Given the description of an element on the screen output the (x, y) to click on. 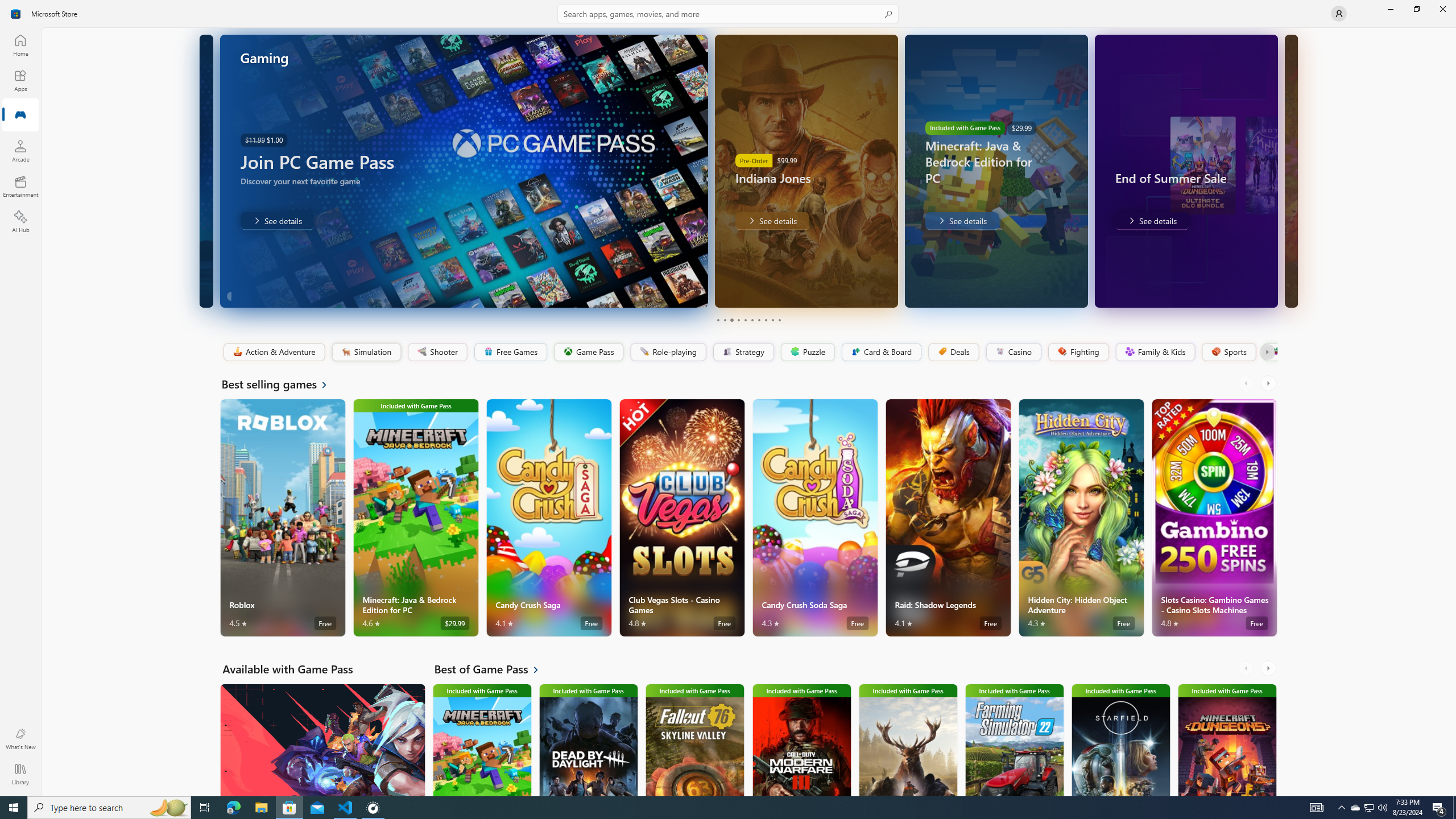
Puzzle (807, 352)
Role-playing (668, 352)
Class: Button (1266, 351)
AutomationID: Image (1290, 170)
Page 1 (717, 319)
Family & Kids (1154, 352)
Roblox. Average rating of 4.5 out of five stars. Free   (282, 517)
Page 10 (779, 319)
Simulation (365, 352)
Platformer (1269, 352)
